Given the description of an element on the screen output the (x, y) to click on. 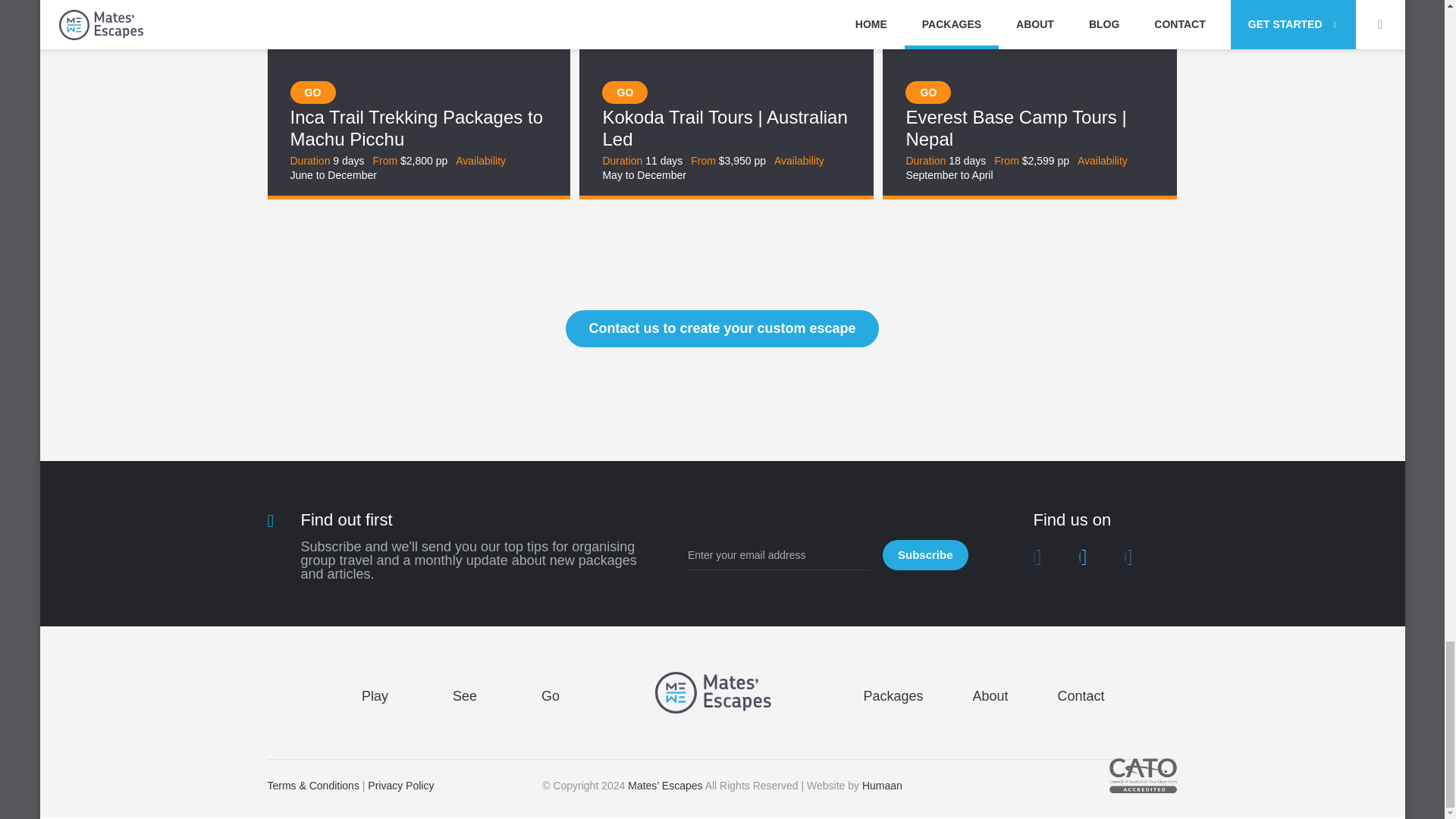
View all packages in the Play category (374, 695)
View all packages in the See category (464, 695)
Email Address (778, 554)
